Given the description of an element on the screen output the (x, y) to click on. 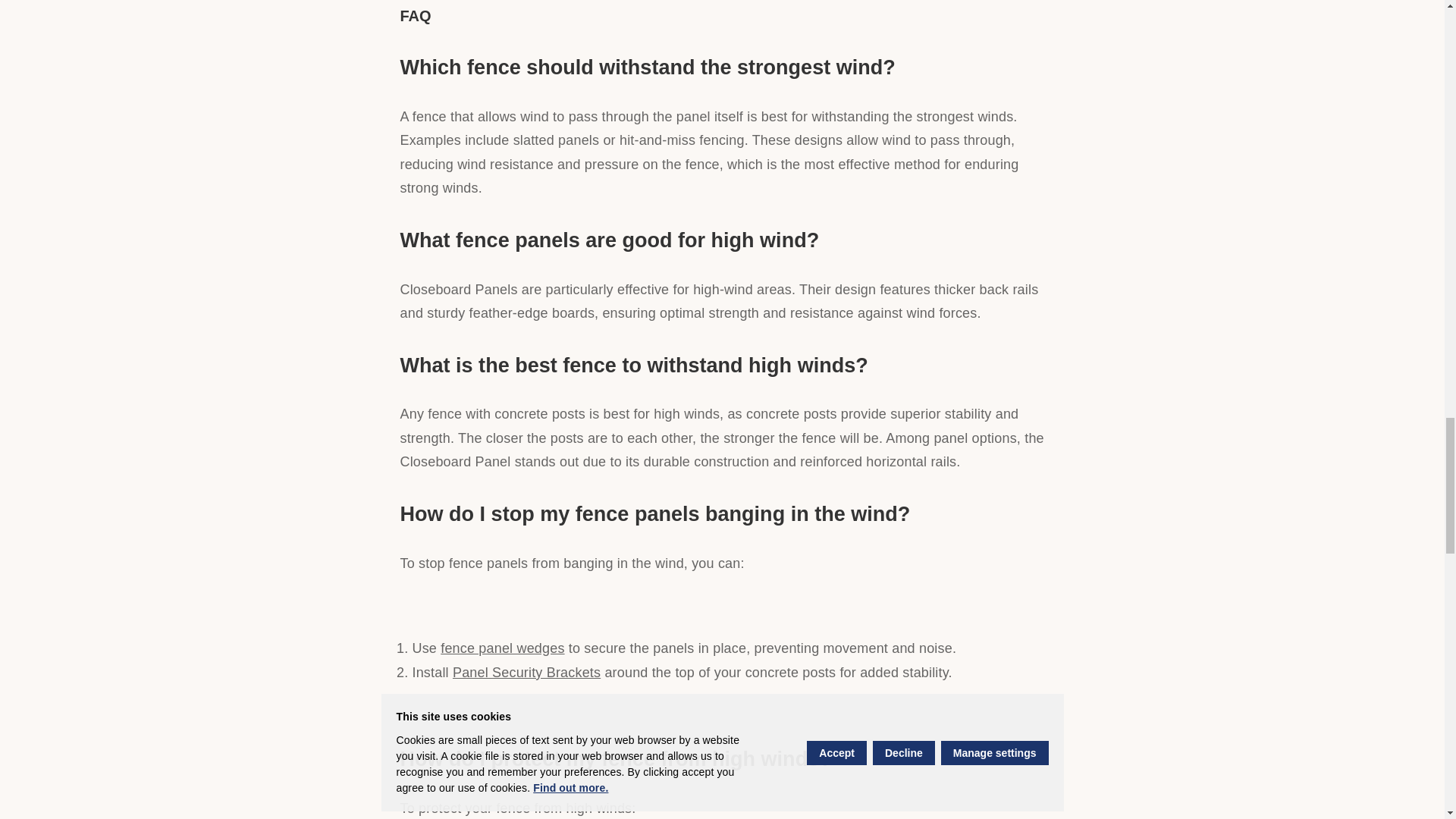
Panel Security Brackets (525, 672)
fence panel wedges (502, 648)
